Given the description of an element on the screen output the (x, y) to click on. 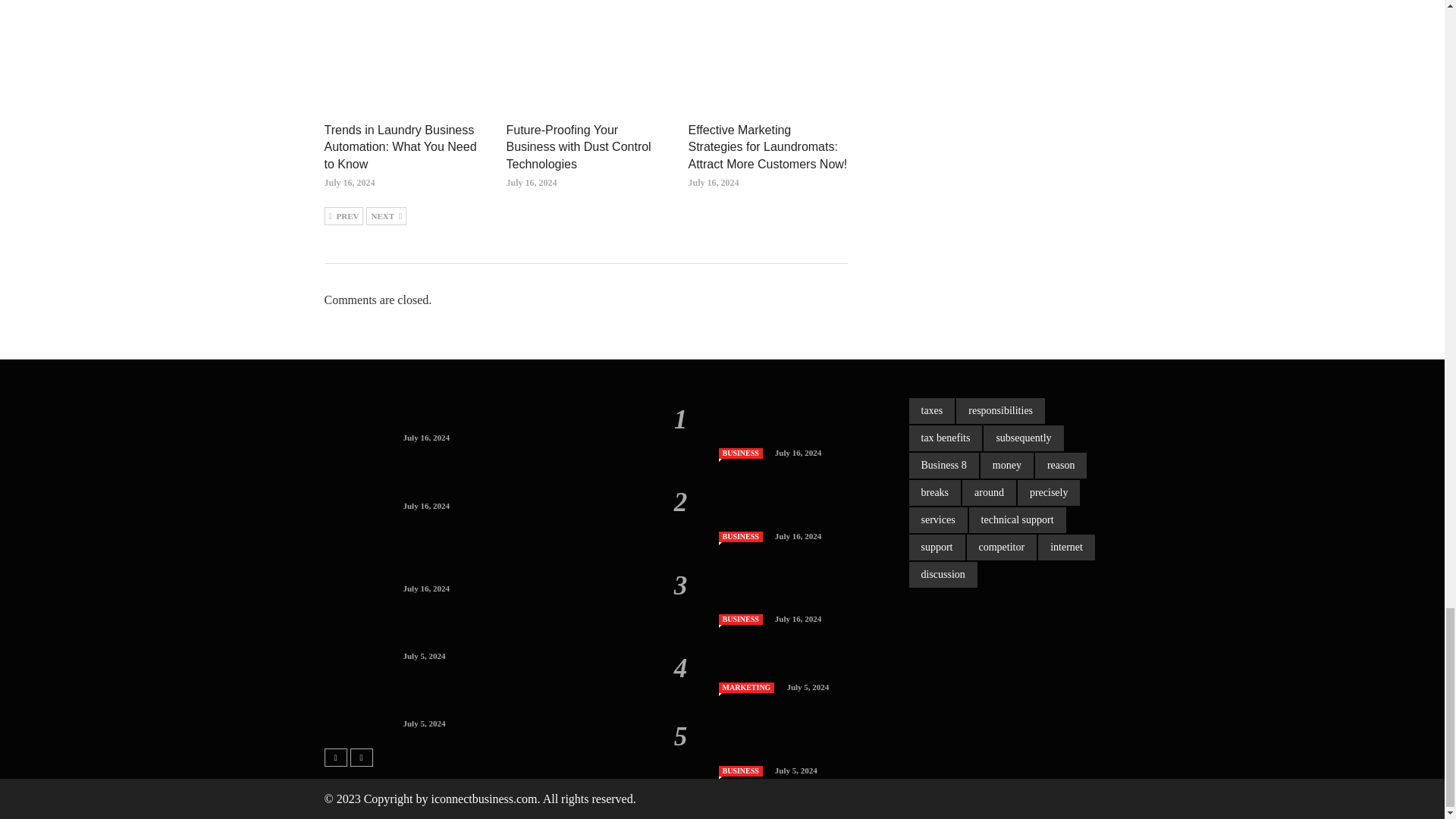
Previous (344, 216)
